Given the description of an element on the screen output the (x, y) to click on. 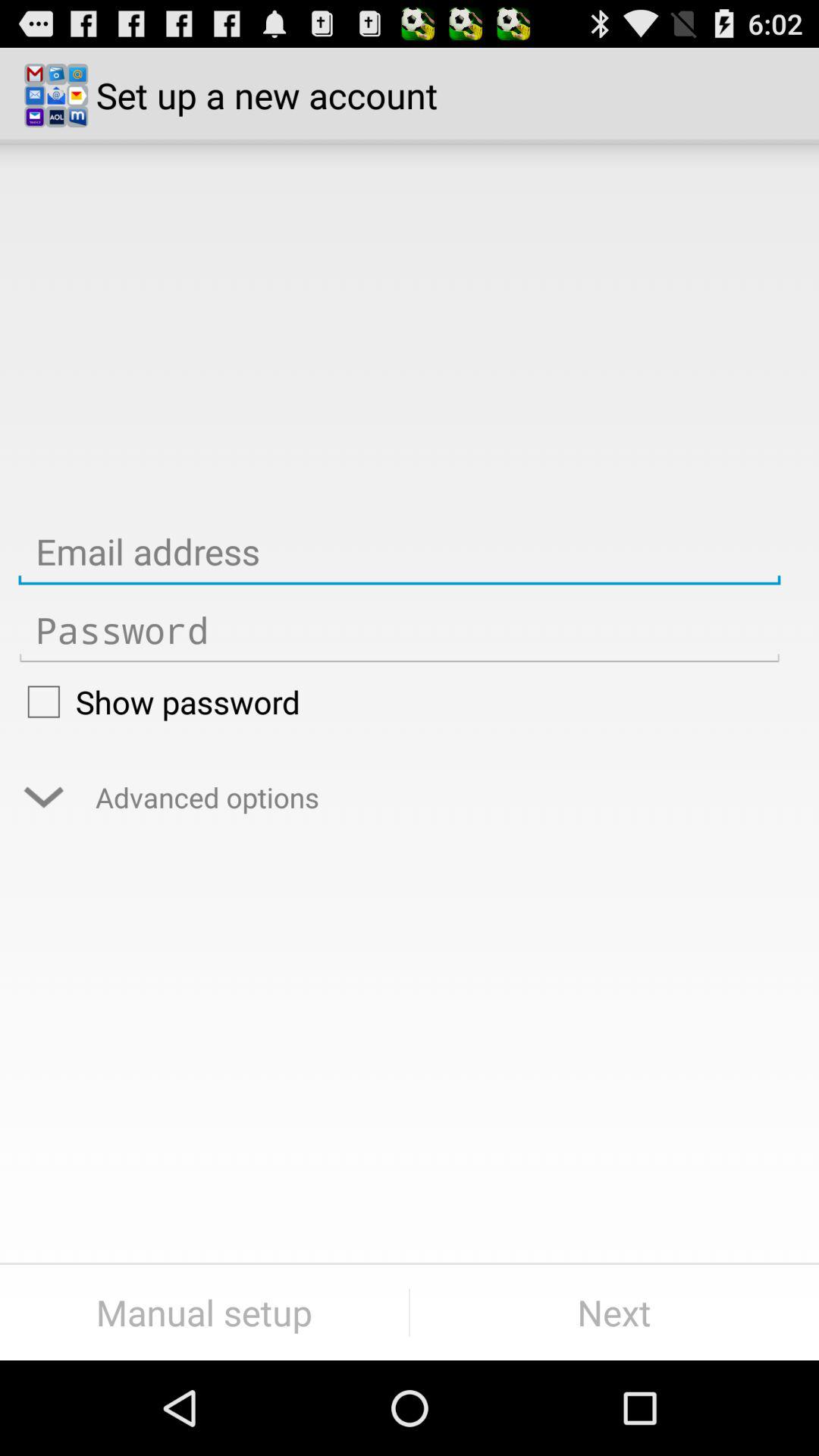
email (399, 552)
